Given the description of an element on the screen output the (x, y) to click on. 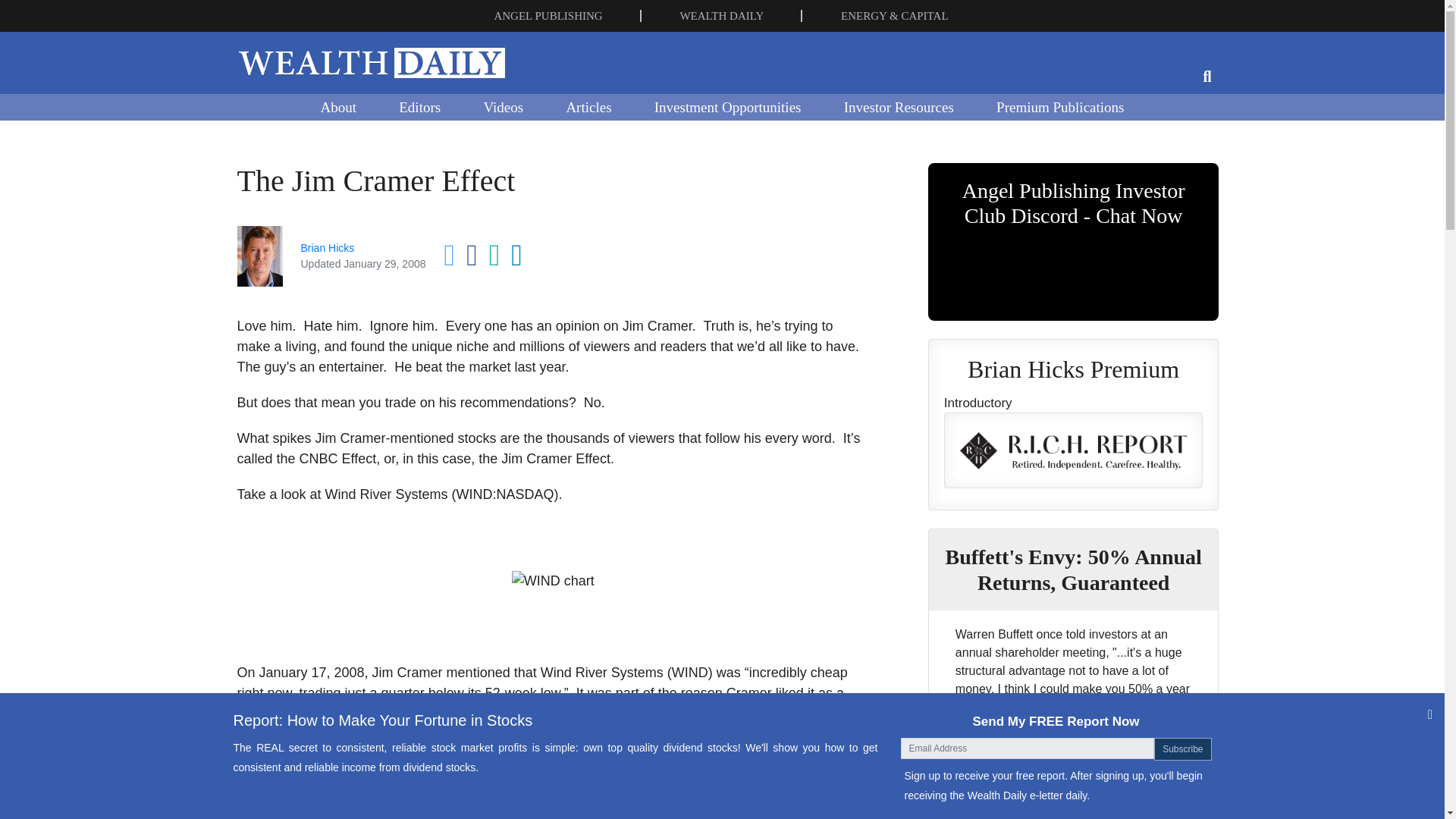
Investor Resources (898, 106)
Angel Publishing Investor Club Discord - Chat Now (1074, 241)
Premium Publications (1059, 106)
WEALTH DAILY (720, 15)
Articles (587, 106)
Investment Opportunities (727, 106)
Brian Hicks (326, 247)
ANGEL PUBLISHING (547, 15)
About (337, 106)
Videos (502, 106)
Editors (419, 106)
WIND chart (553, 580)
